Given the description of an element on the screen output the (x, y) to click on. 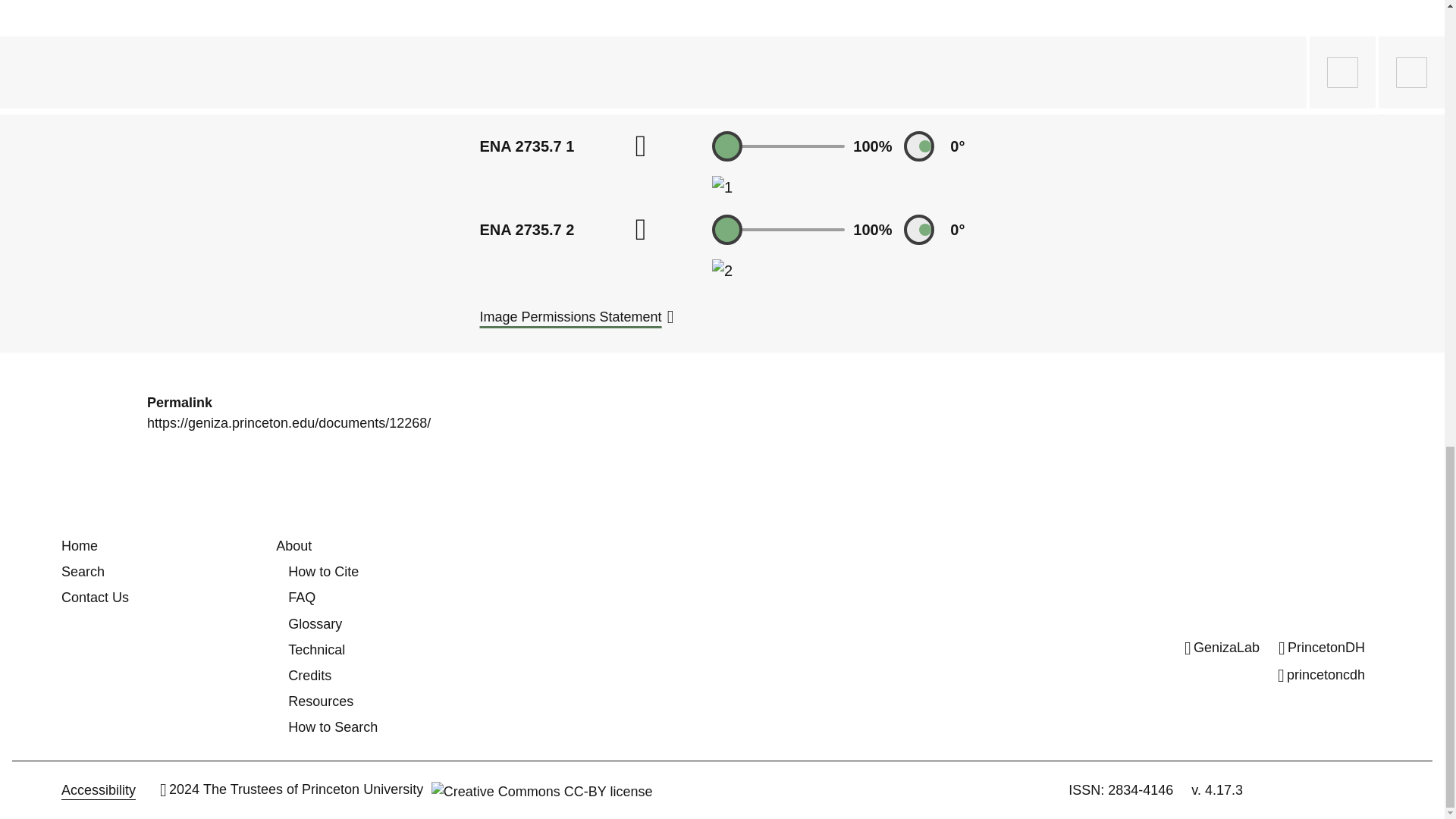
1 (721, 187)
How to Search (332, 726)
Technical (316, 649)
Home (79, 545)
FAQ (301, 597)
2 (721, 270)
Search (82, 571)
How to Cite (323, 571)
